Given the description of an element on the screen output the (x, y) to click on. 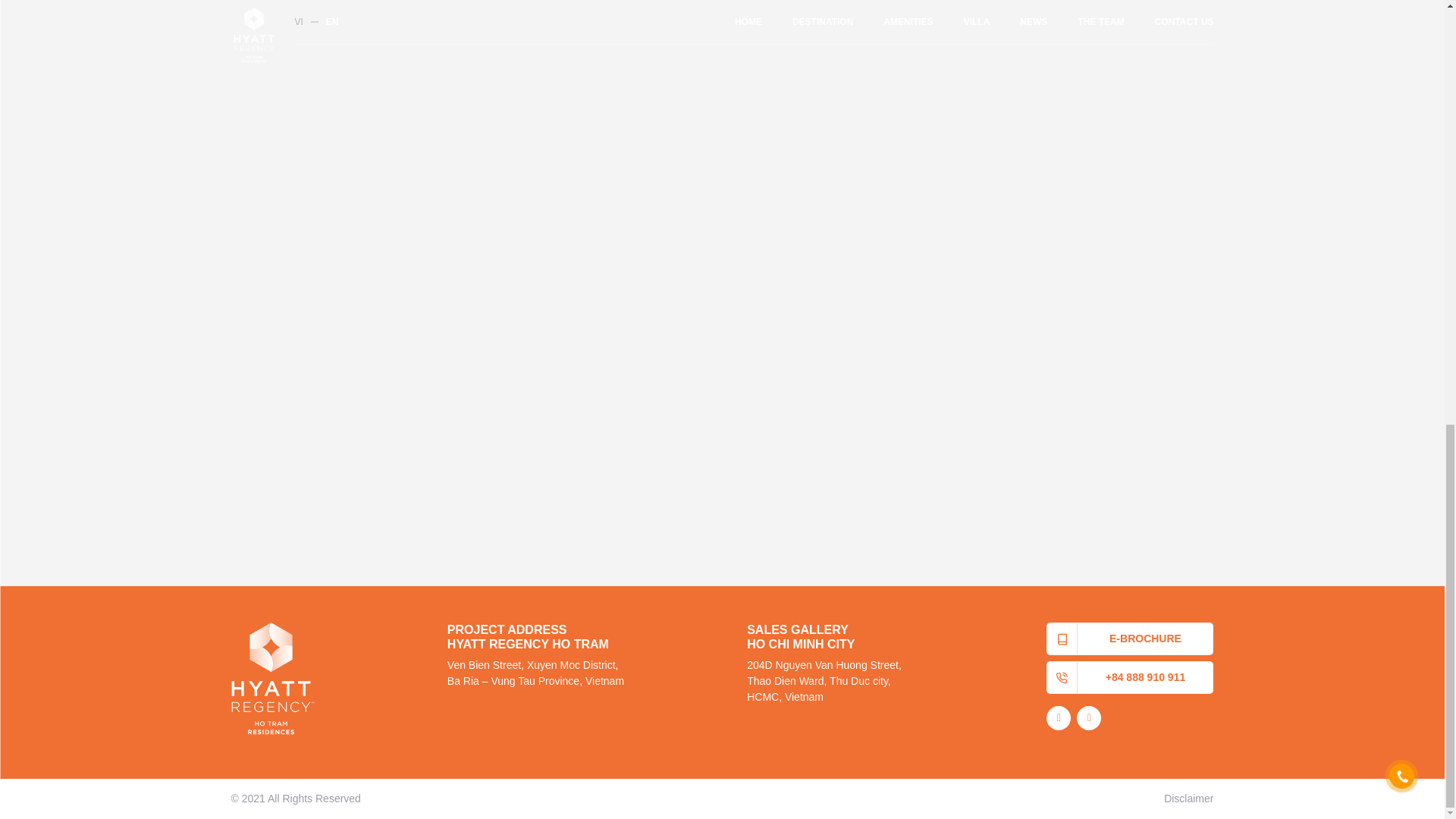
Disclaimer (1187, 798)
E-BROCHURE (1129, 638)
